Given the description of an element on the screen output the (x, y) to click on. 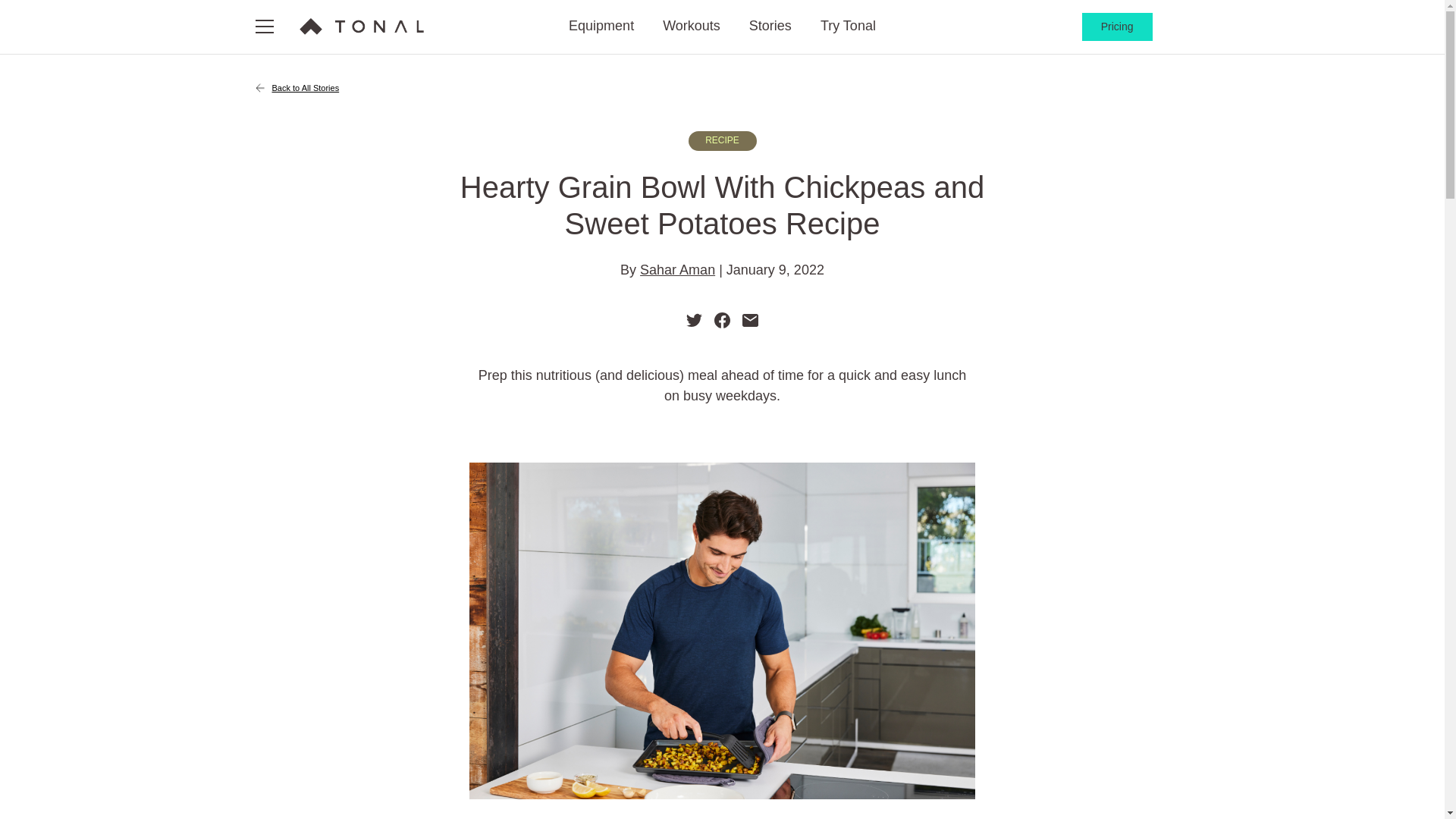
Equipment (601, 26)
Share this on Twitter (693, 319)
Back to All Stories (721, 87)
Share this via Email (750, 319)
RECIPE (722, 140)
Sahar Aman (677, 269)
Stories (770, 26)
Workouts (691, 26)
Pricing (1117, 26)
